Given the description of an element on the screen output the (x, y) to click on. 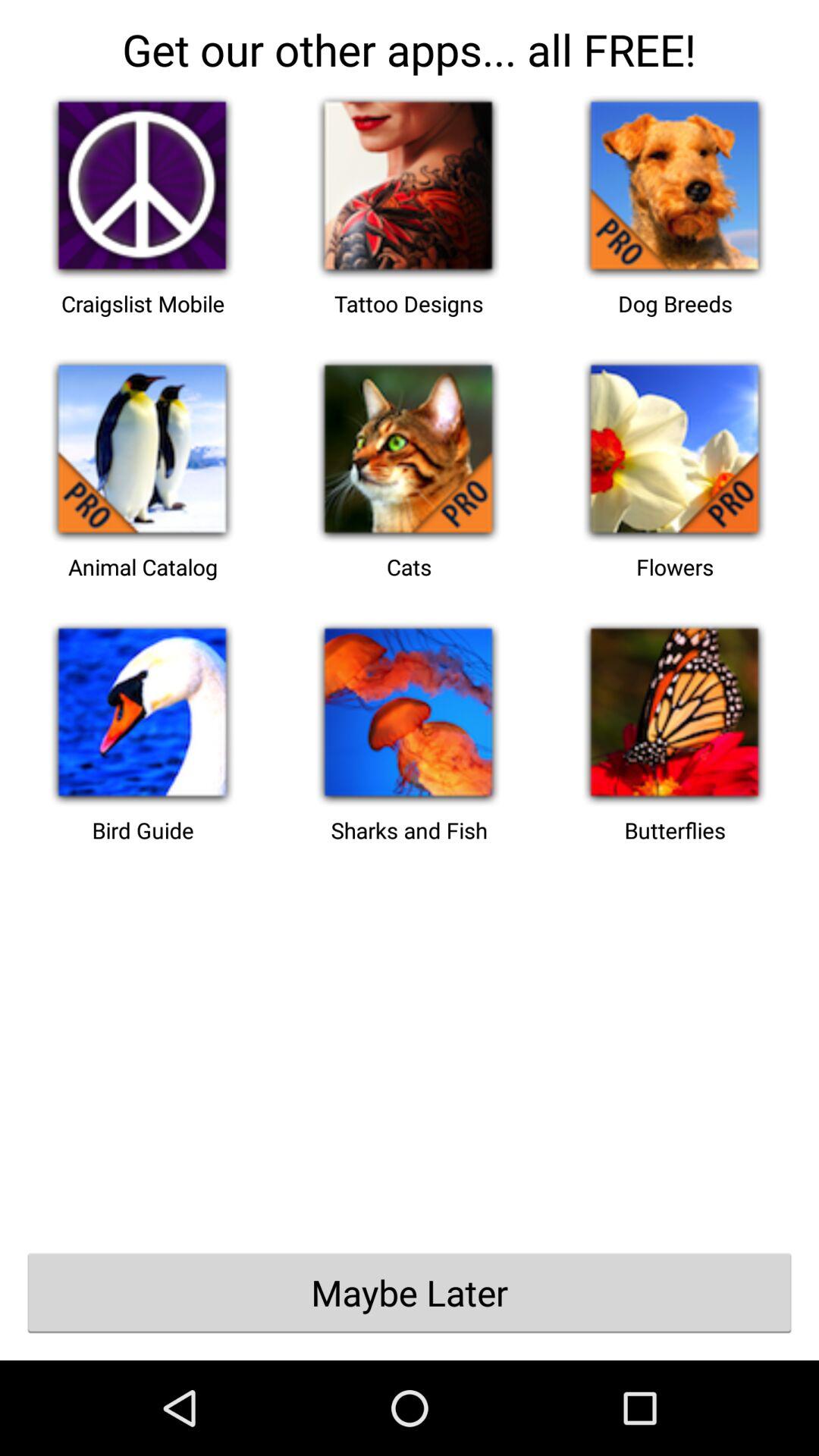
click app below bird guide item (409, 1292)
